Given the description of an element on the screen output the (x, y) to click on. 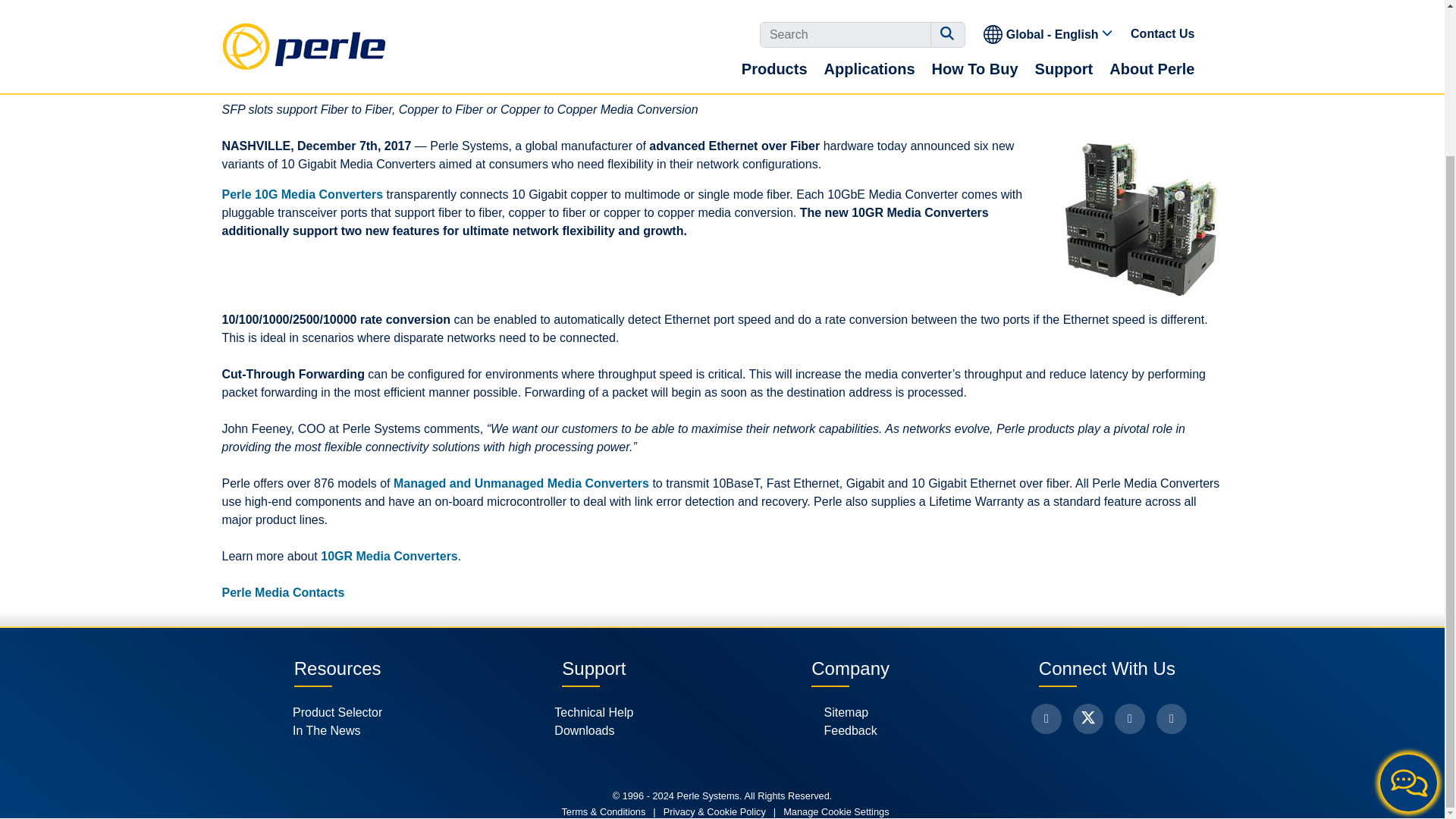
Perle 10G Media Converters (301, 194)
twiter (1088, 718)
Sitemap (850, 712)
Facebook (1045, 718)
Feedback (850, 730)
Downloads (593, 730)
Product Selector (336, 712)
10GR Media Converters (389, 555)
LinkedIn (1129, 718)
Technical Help (593, 712)
